Given the description of an element on the screen output the (x, y) to click on. 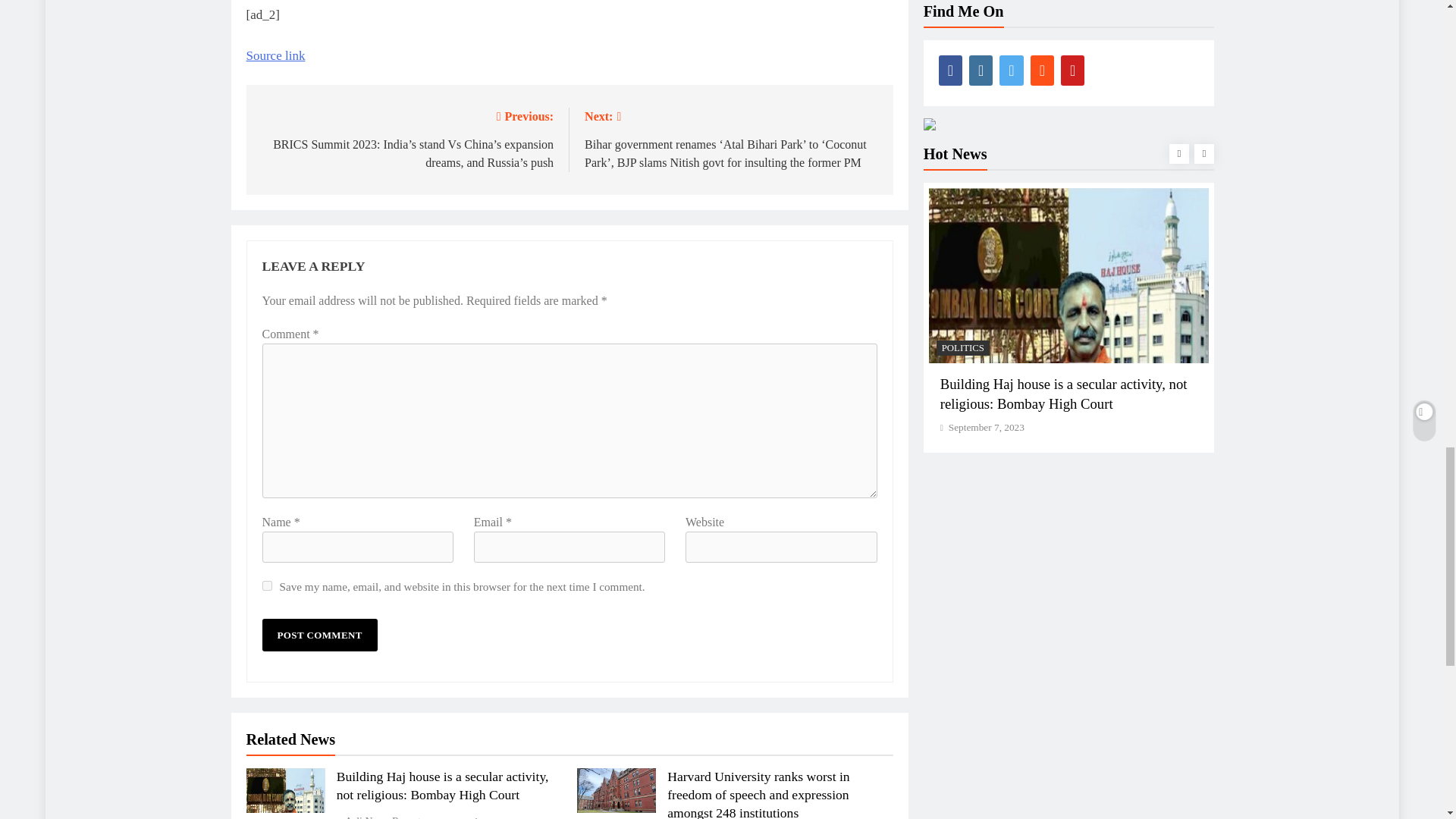
yes (267, 585)
Post Comment (319, 635)
